Given the description of an element on the screen output the (x, y) to click on. 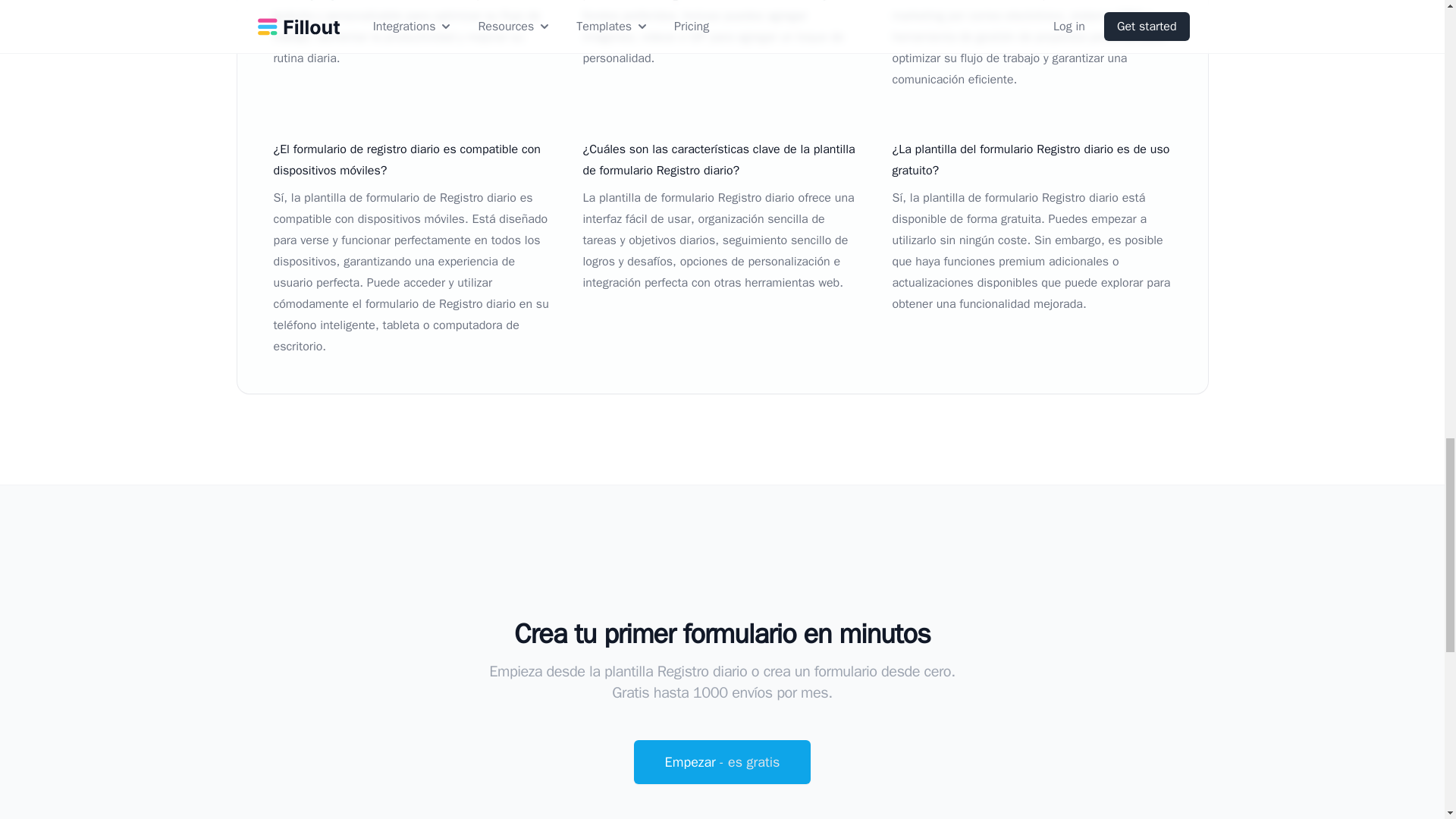
Empezar - es gratis (721, 761)
